Given the description of an element on the screen output the (x, y) to click on. 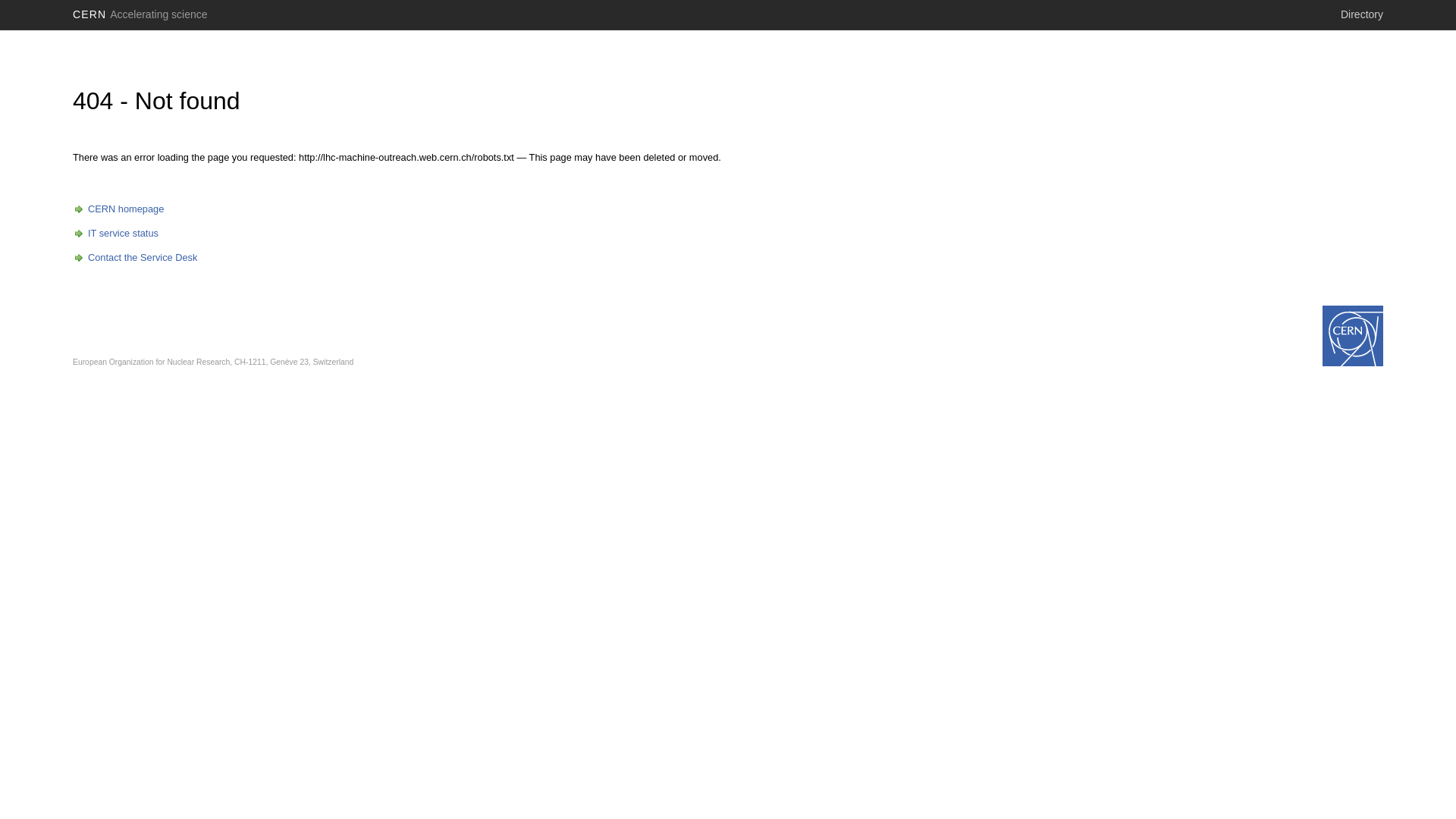
CERN Accelerating science Element type: text (139, 14)
IT service status Element type: text (115, 232)
CERN homepage Element type: text (117, 208)
Contact the Service Desk Element type: text (134, 257)
Directory Element type: text (1361, 14)
www.cern.ch Element type: hover (1352, 335)
